Given the description of an element on the screen output the (x, y) to click on. 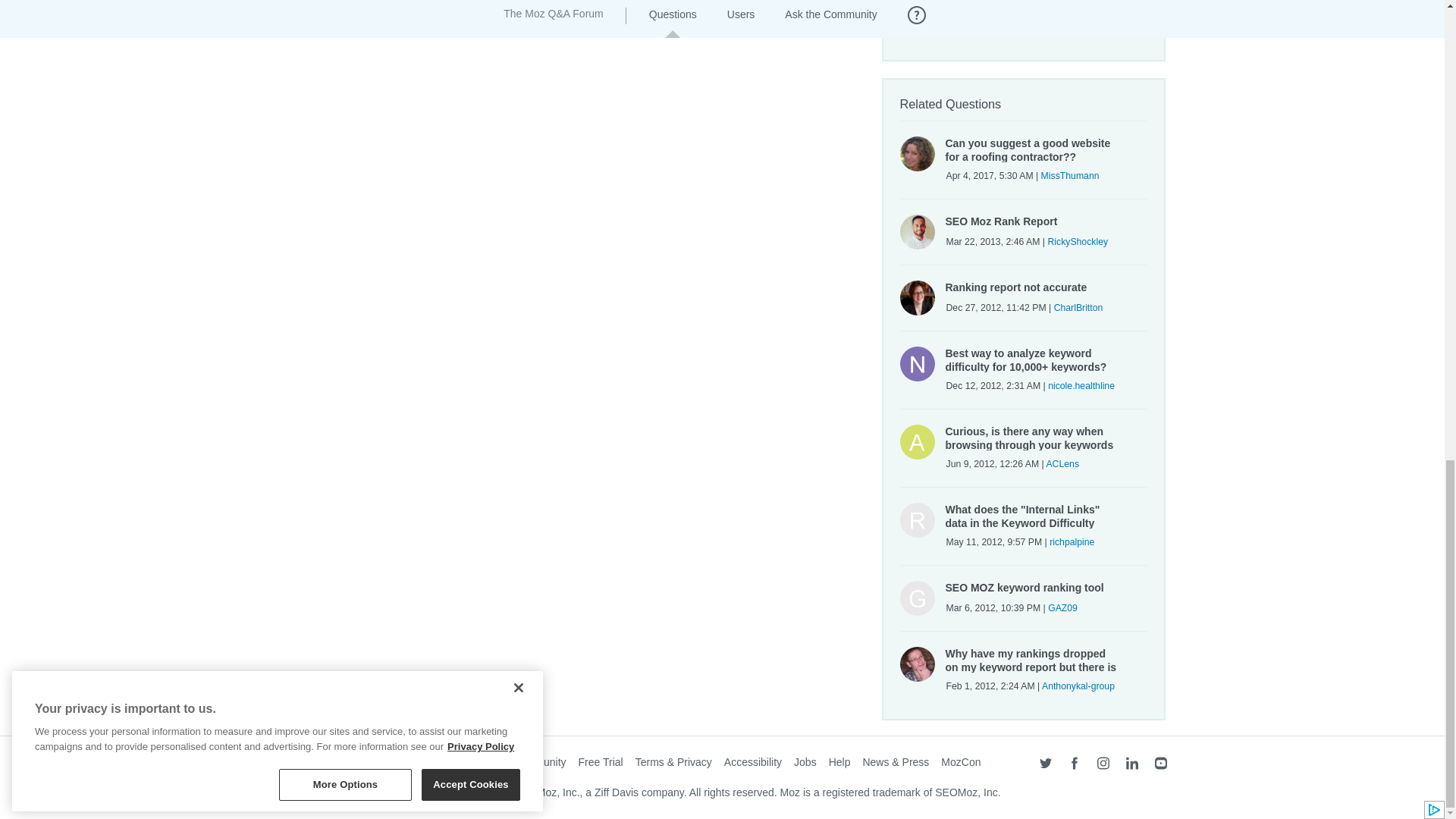
Moz logo (303, 765)
